Given the description of an element on the screen output the (x, y) to click on. 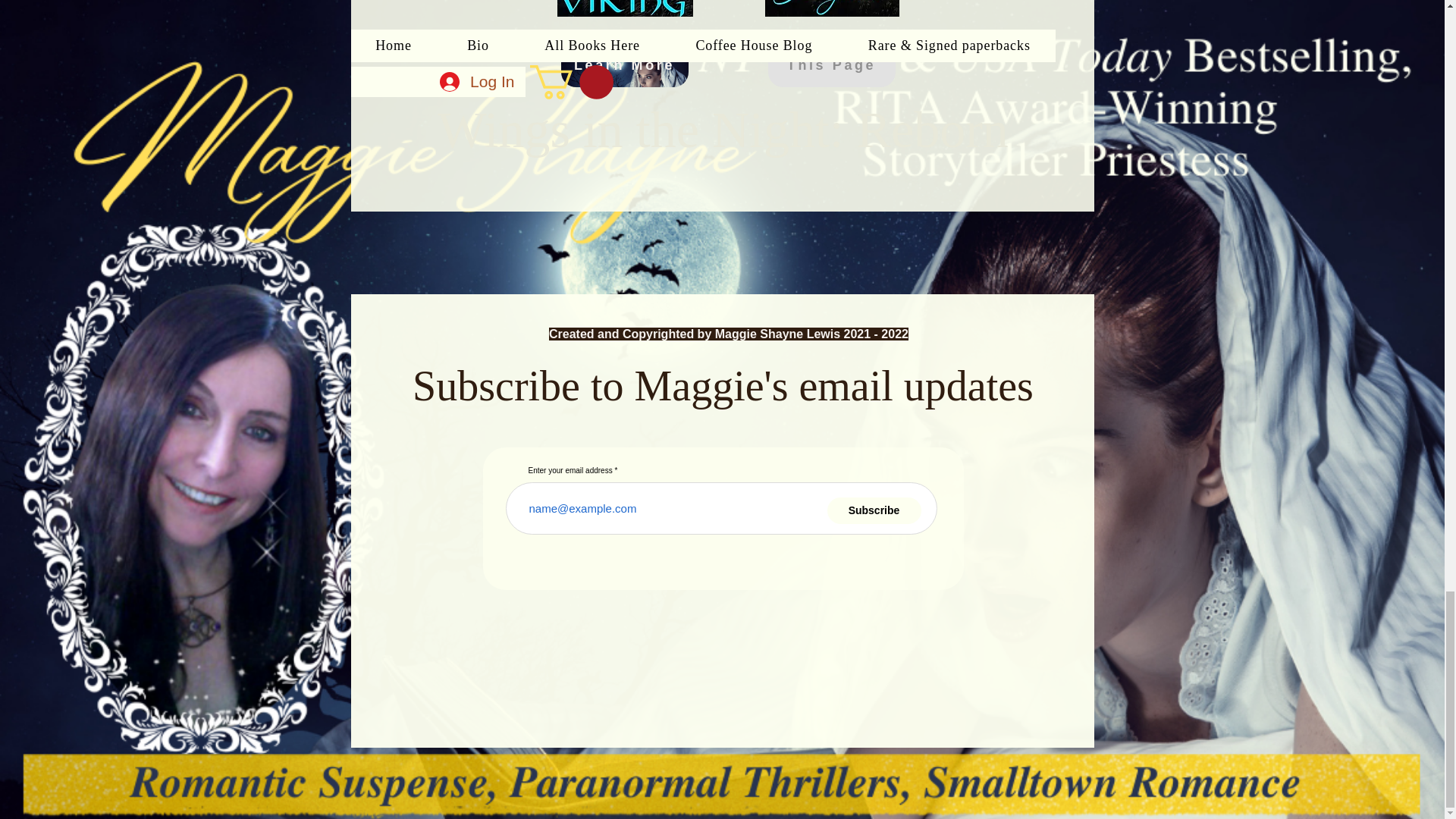
Subscribe (873, 510)
Learn More (624, 64)
This Page (831, 64)
